Given the description of an element on the screen output the (x, y) to click on. 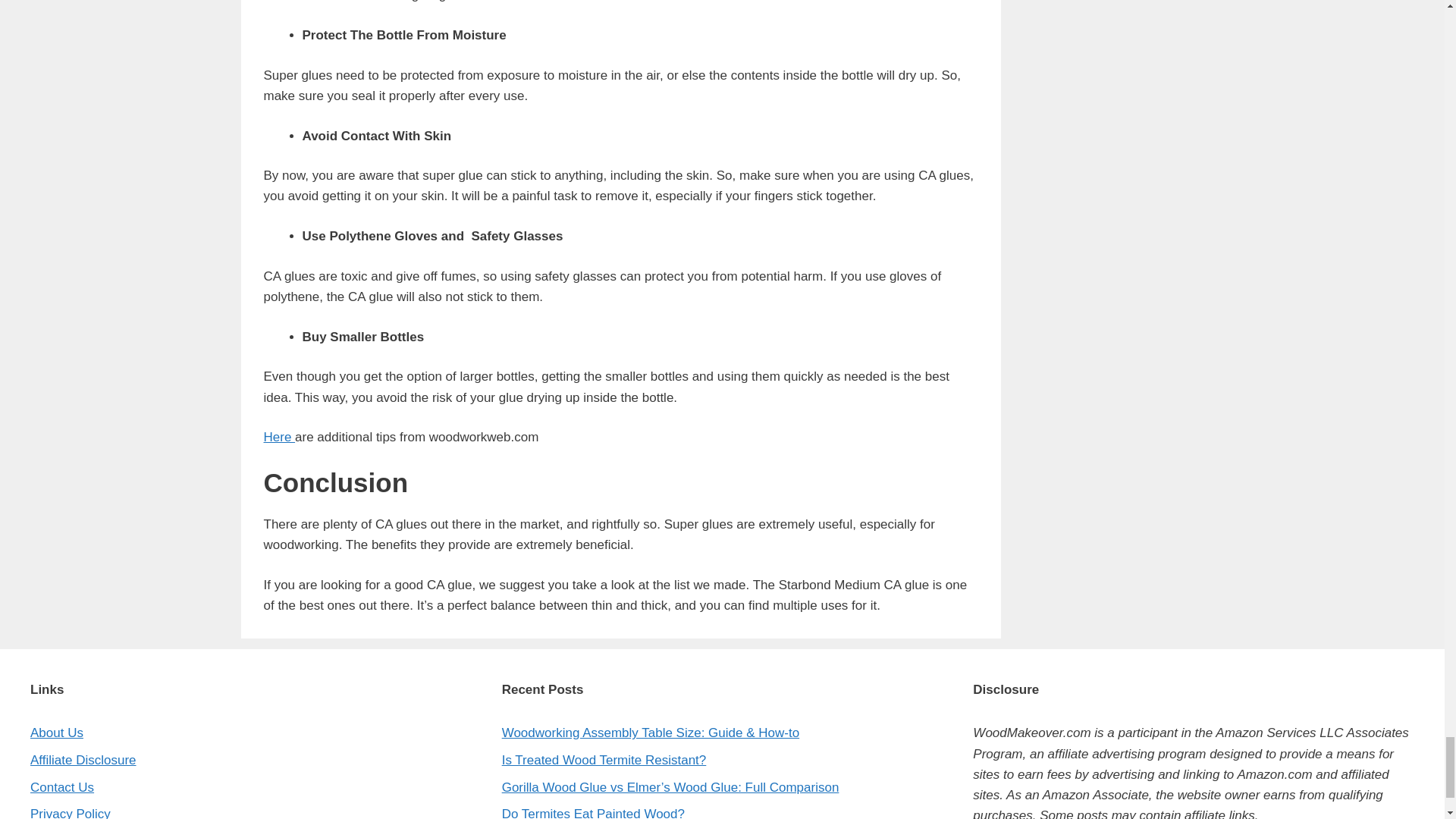
Is Treated Wood Termite Resistant? (604, 759)
Privacy Policy (70, 812)
Contact Us (62, 787)
Here (279, 436)
Do Termites Eat Painted Wood? (593, 812)
Affiliate Disclosure (83, 759)
About Us (56, 732)
